Given the description of an element on the screen output the (x, y) to click on. 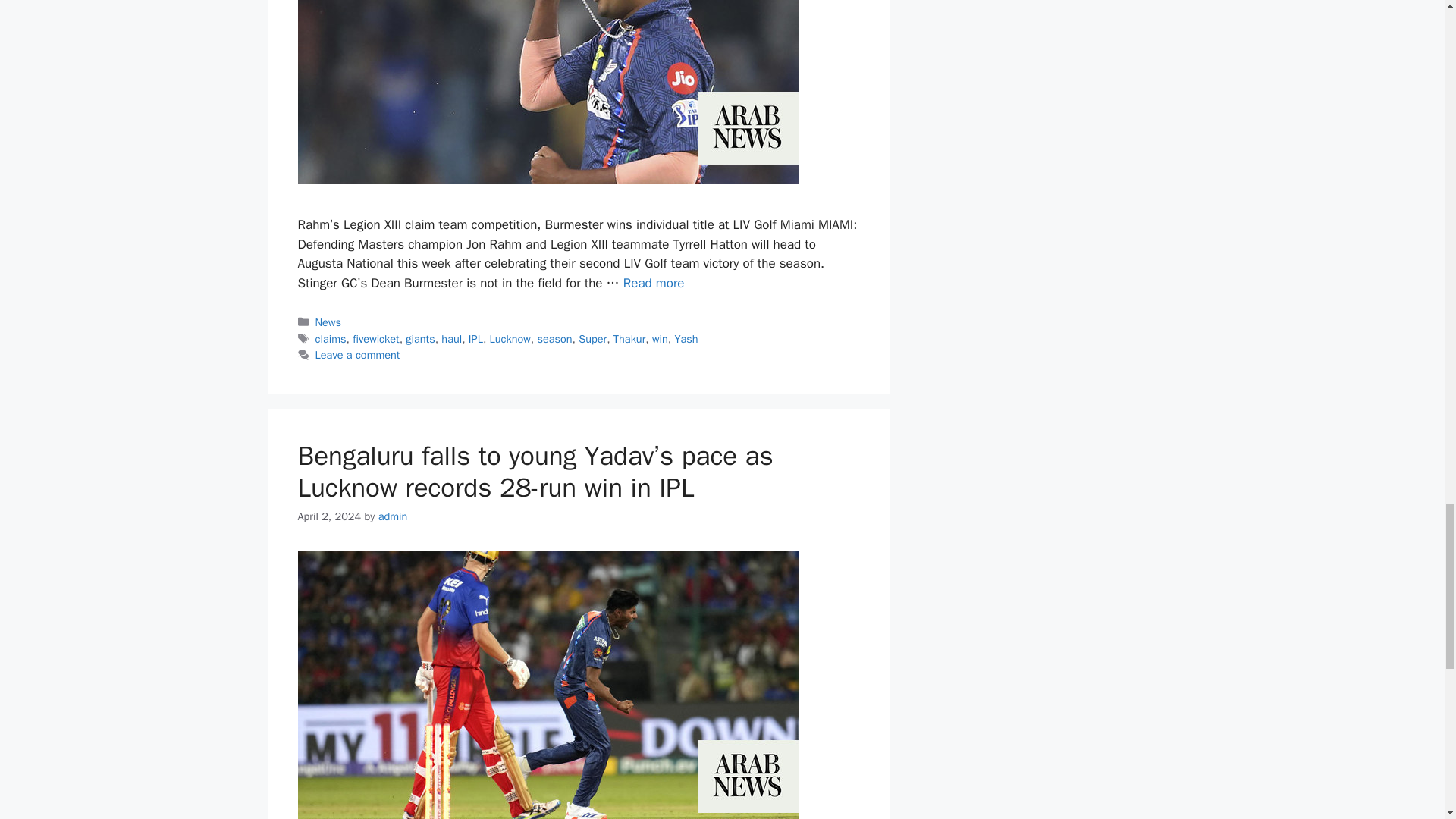
View all posts by admin (392, 516)
